Given the description of an element on the screen output the (x, y) to click on. 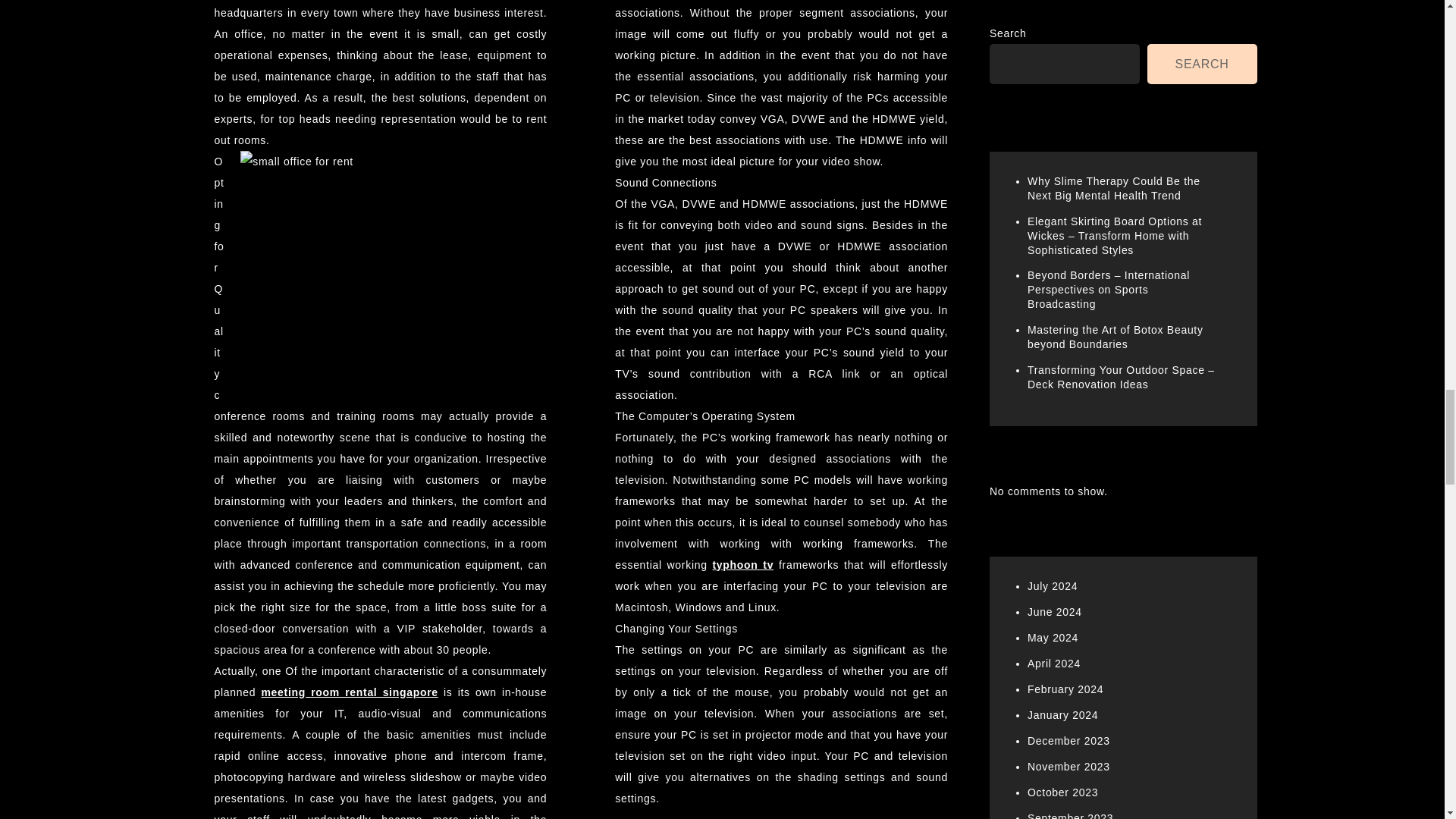
meeting room rental singapore (349, 692)
typhoon tv (742, 564)
